Given the description of an element on the screen output the (x, y) to click on. 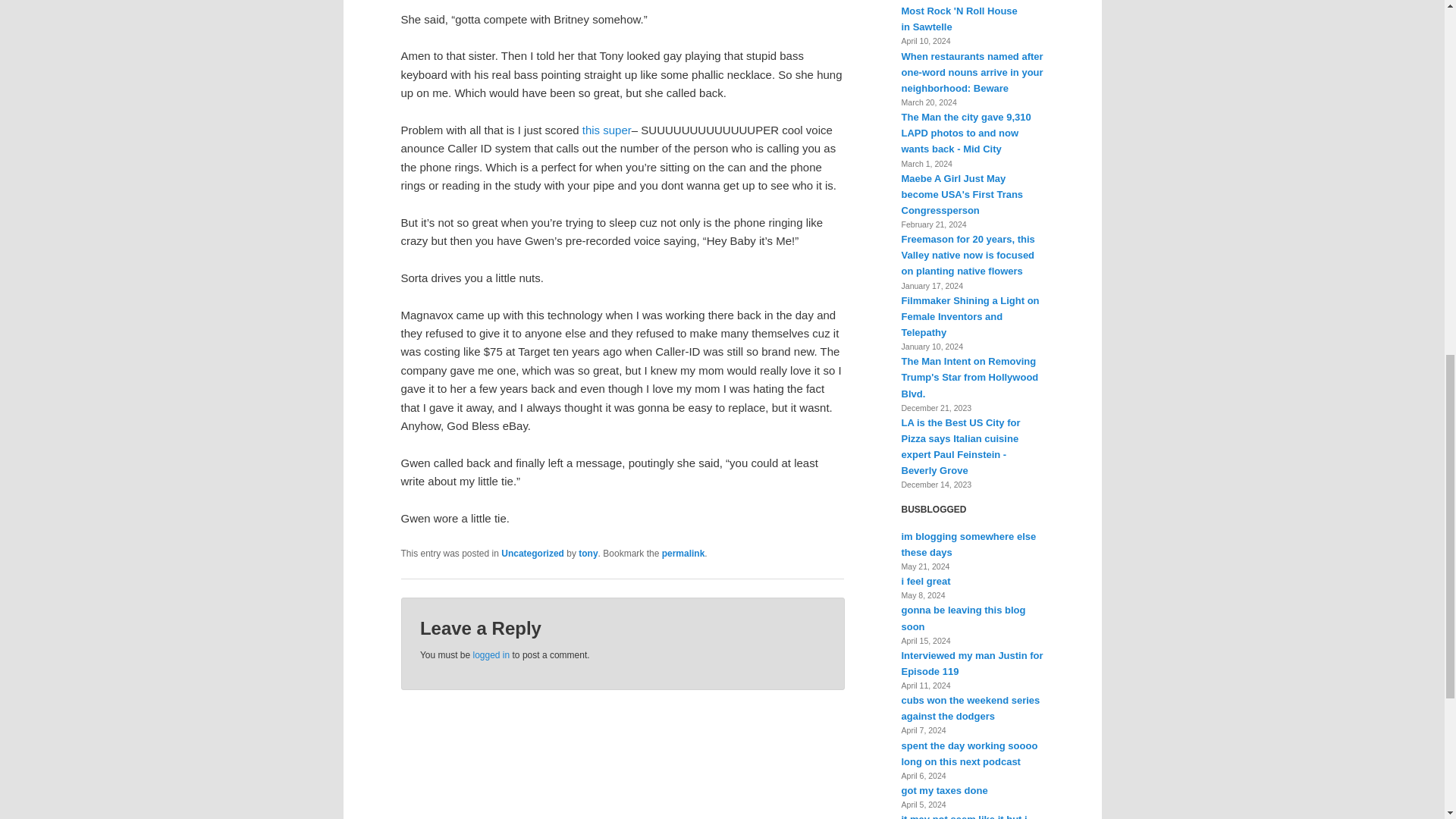
permalink (683, 552)
this super (606, 129)
Uncategorized (532, 552)
logged in (490, 655)
tony (587, 552)
